Given the description of an element on the screen output the (x, y) to click on. 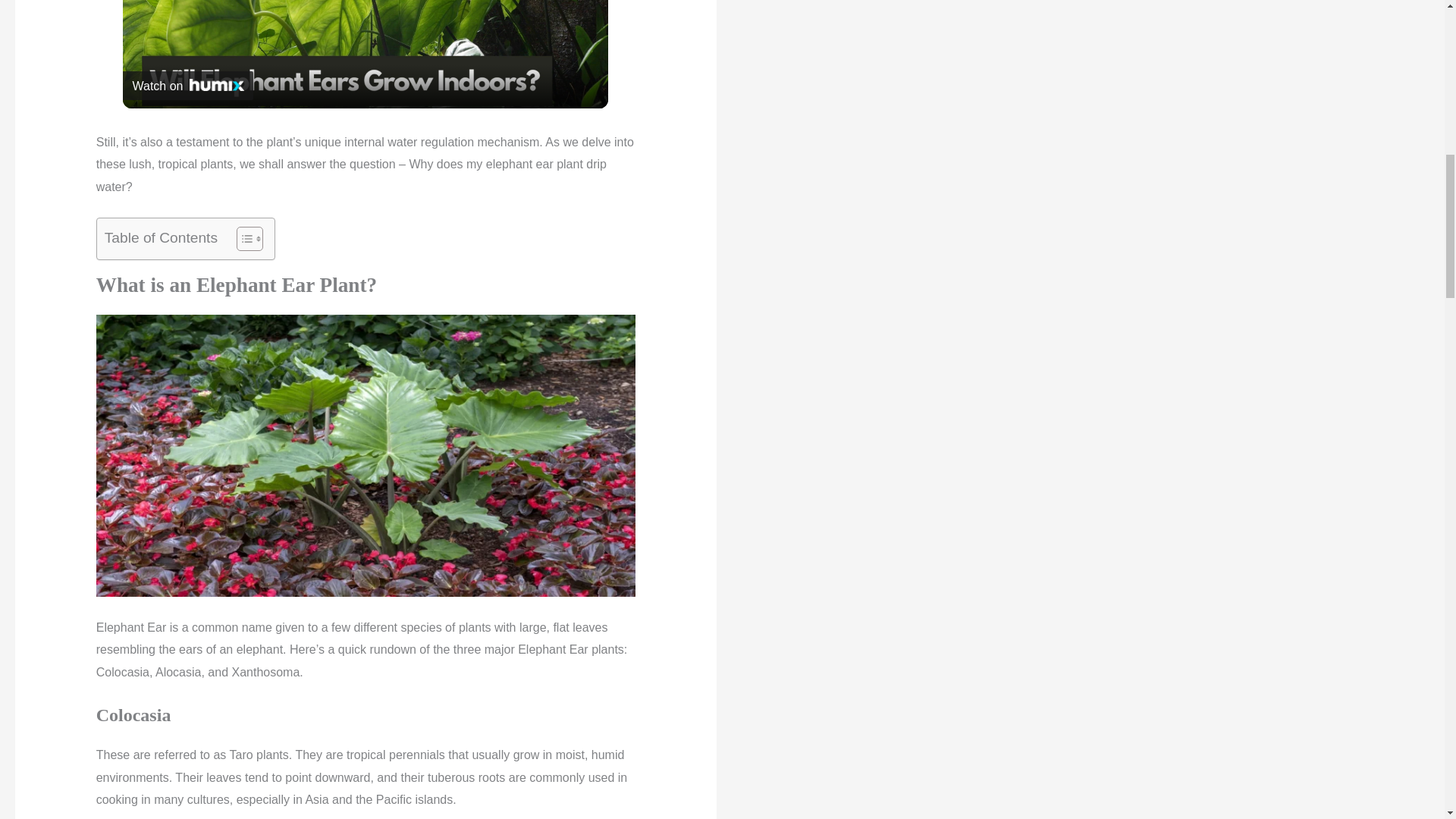
Watch on (187, 85)
